Given the description of an element on the screen output the (x, y) to click on. 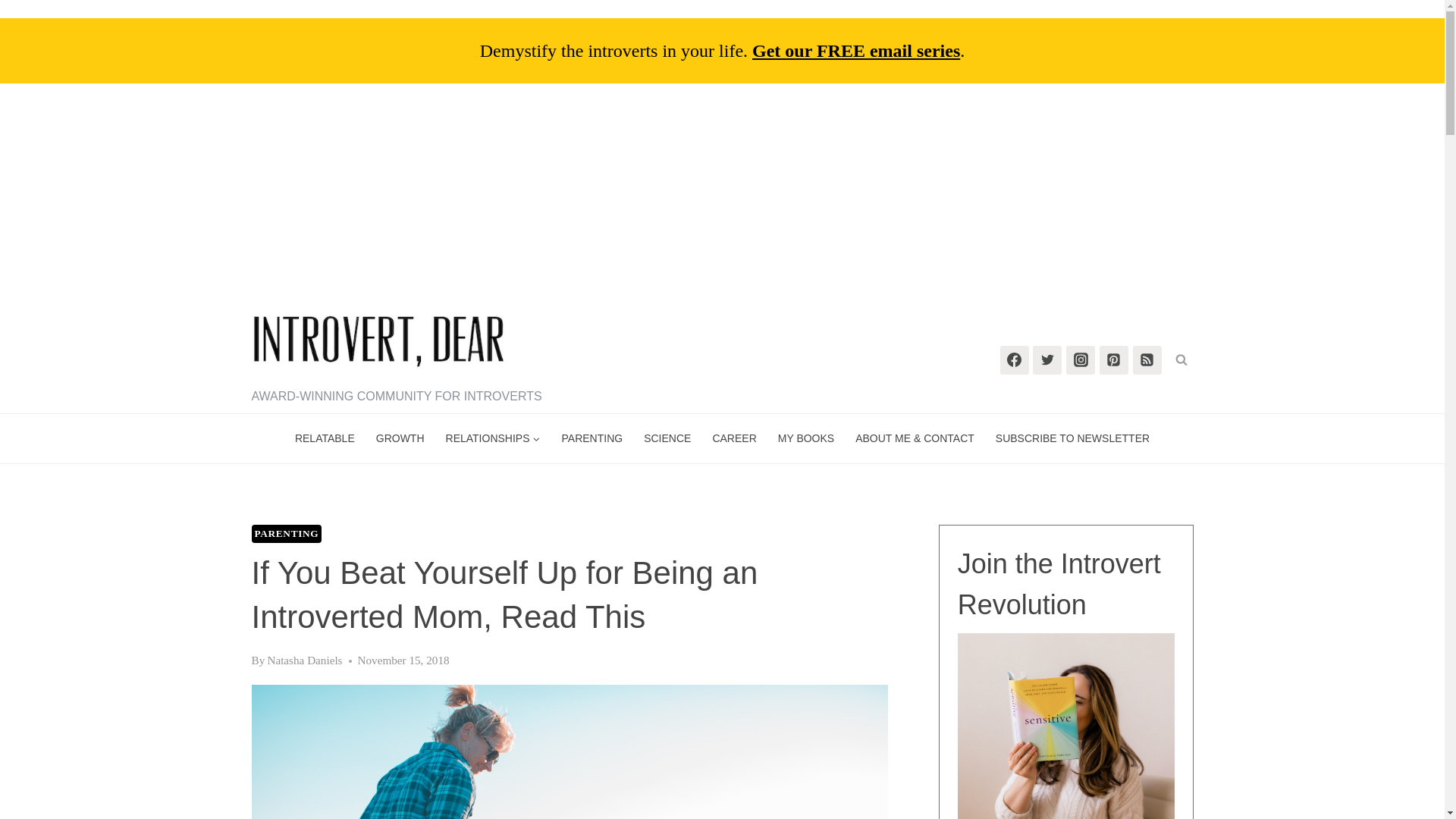
RELATABLE (324, 438)
GROWTH (400, 438)
MY BOOKS (805, 438)
CAREER (734, 438)
RELATIONSHIPS (493, 438)
AWARD-WINNING COMMUNITY FOR INTROVERTS (396, 357)
Get our FREE email series (855, 50)
PARENTING (286, 533)
SCIENCE (667, 438)
PARENTING (592, 438)
SUBSCRIBE TO NEWSLETTER (1072, 438)
Natasha Daniels (304, 659)
